Given the description of an element on the screen output the (x, y) to click on. 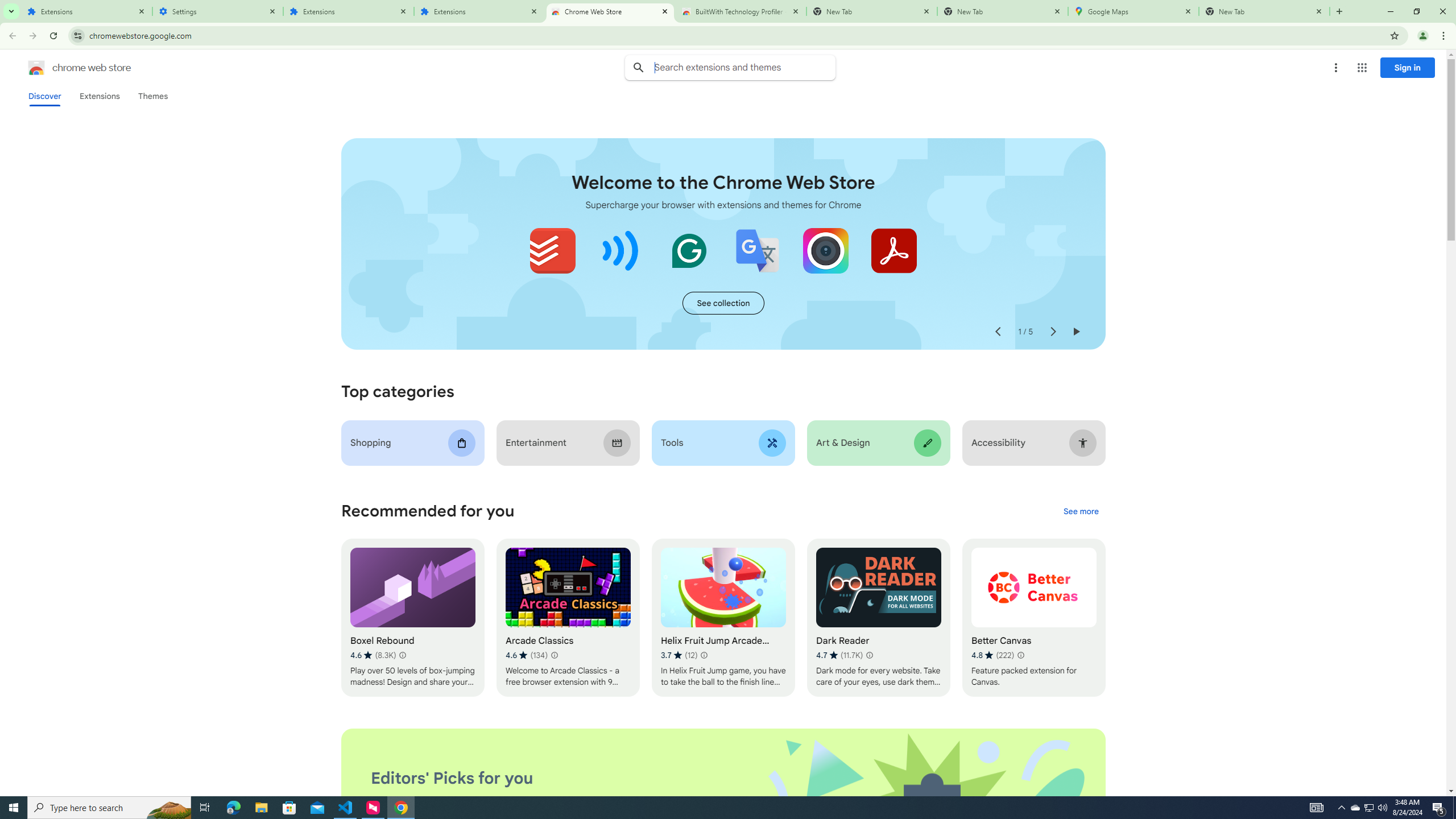
Accessibility (1033, 443)
Google Translate (757, 250)
More options menu (1335, 67)
Extensions (99, 95)
